Given the description of an element on the screen output the (x, y) to click on. 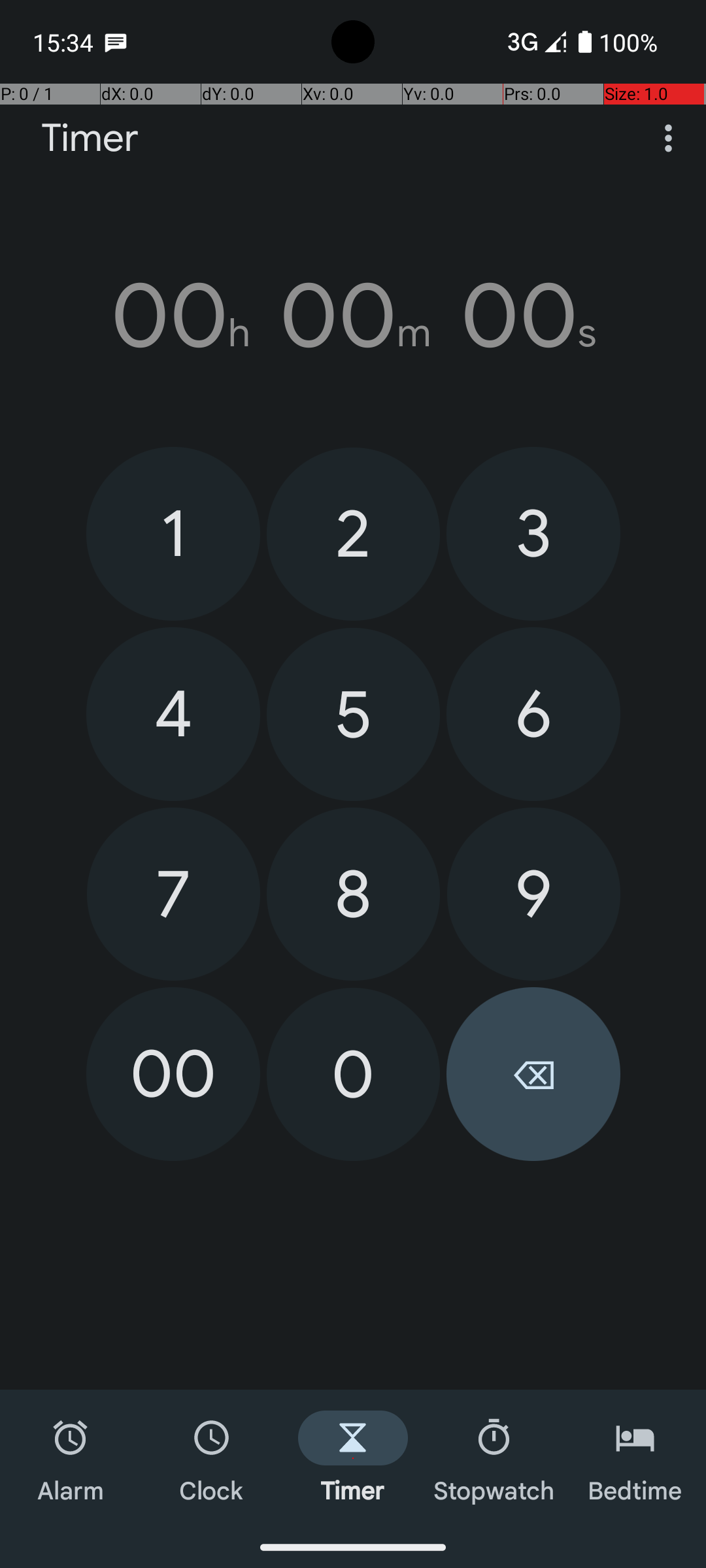
00h 00m 00s Element type: android.widget.TextView (353, 315)
